Given the description of an element on the screen output the (x, y) to click on. 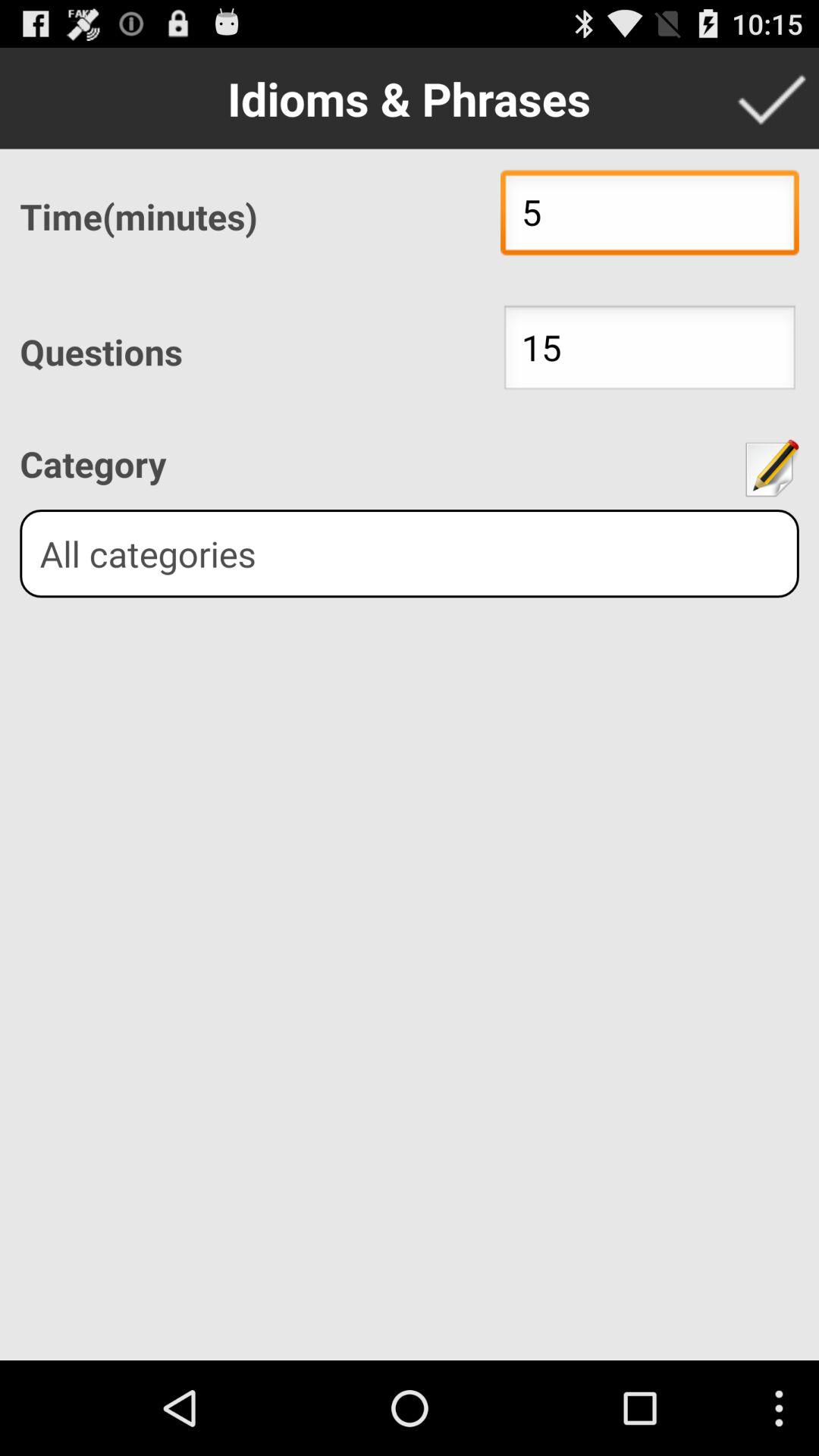
confirm data (771, 98)
